Given the description of an element on the screen output the (x, y) to click on. 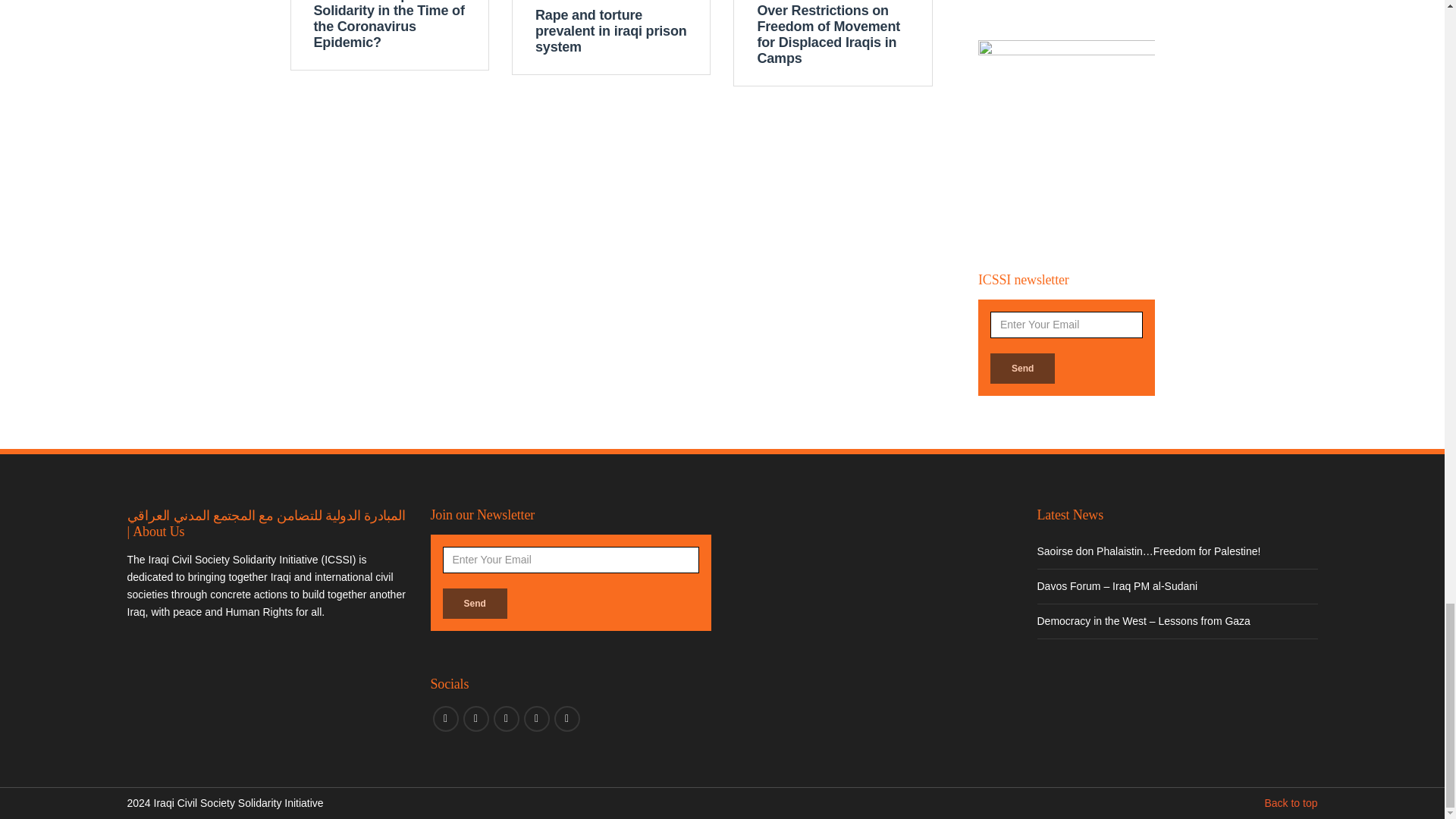
Enter Your Email (570, 560)
Send (474, 603)
Enter Your Email (1066, 325)
Send (1022, 368)
